Given the description of an element on the screen output the (x, y) to click on. 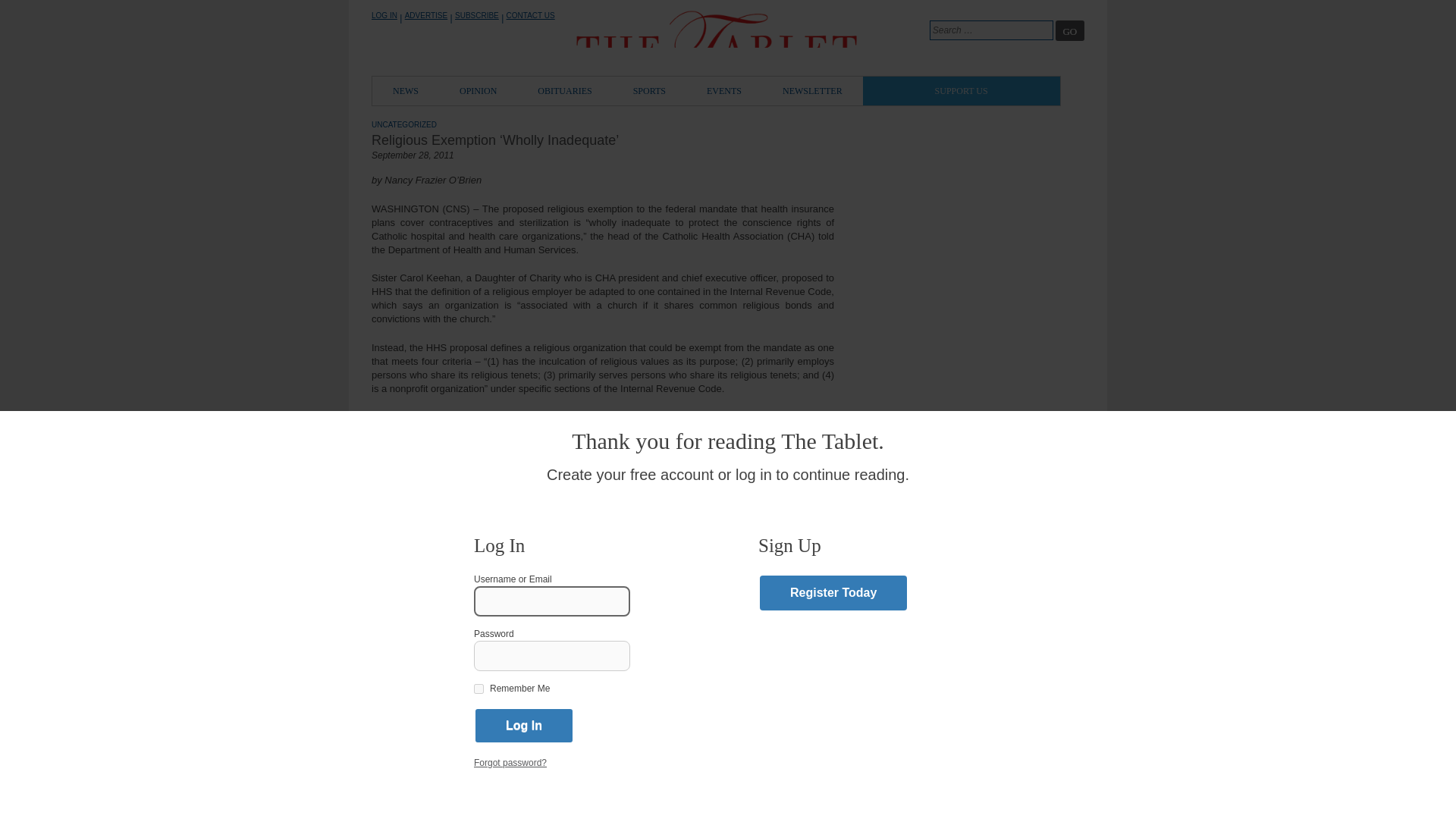
LOG IN (384, 15)
GO (1069, 30)
SPORTS (648, 90)
NEWSLETTER (812, 90)
UNCATEGORIZED (403, 124)
ADVERTISE (426, 15)
Search for: (991, 30)
OBITUARIES (563, 90)
forever (478, 688)
EVENTS (723, 90)
